Given the description of an element on the screen output the (x, y) to click on. 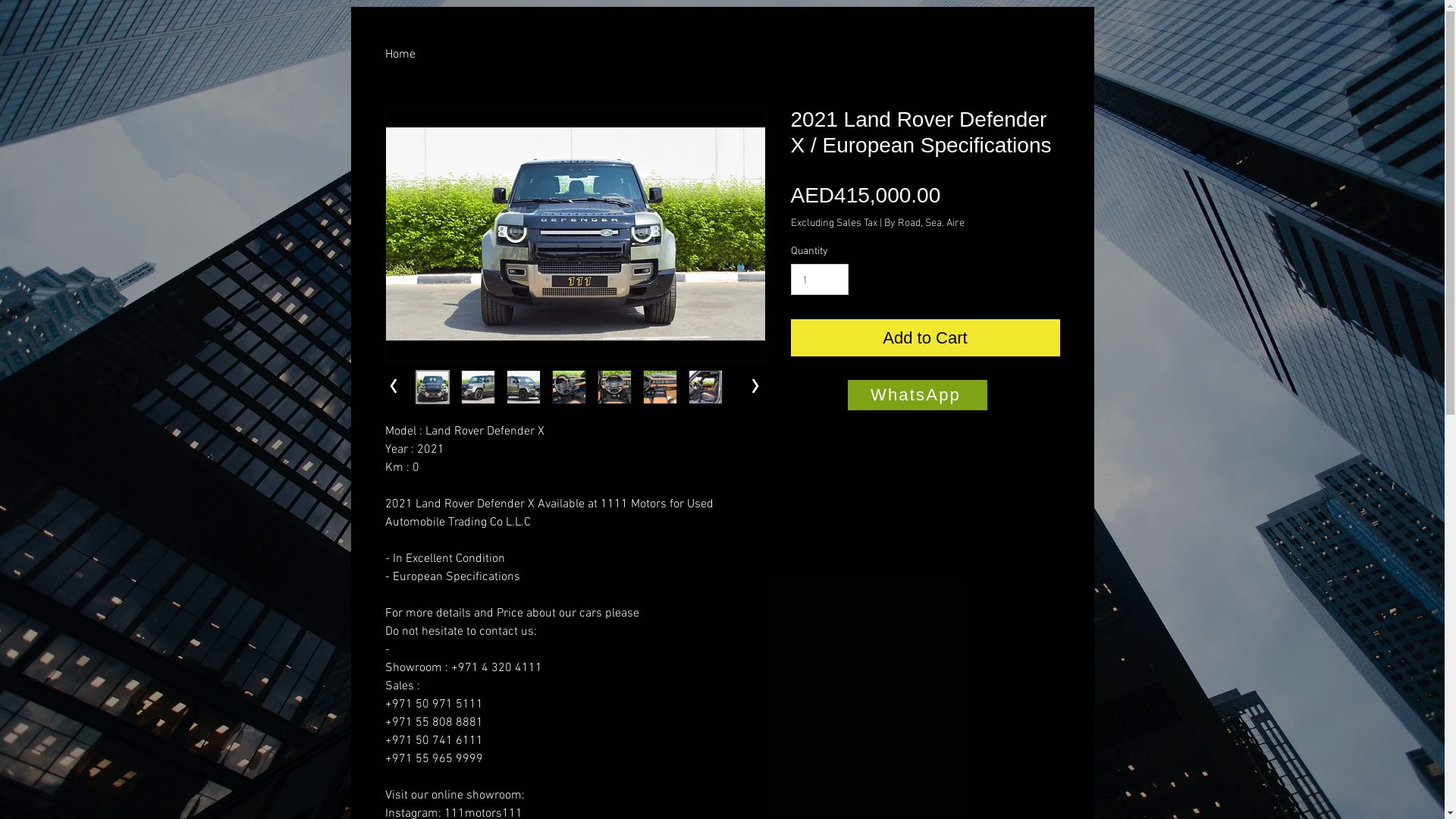
WhatsApp Element type: text (917, 394)
By Road, Sea. Aire Element type: text (924, 222)
Add to Cart Element type: text (924, 337)
Home Element type: text (400, 52)
